Given the description of an element on the screen output the (x, y) to click on. 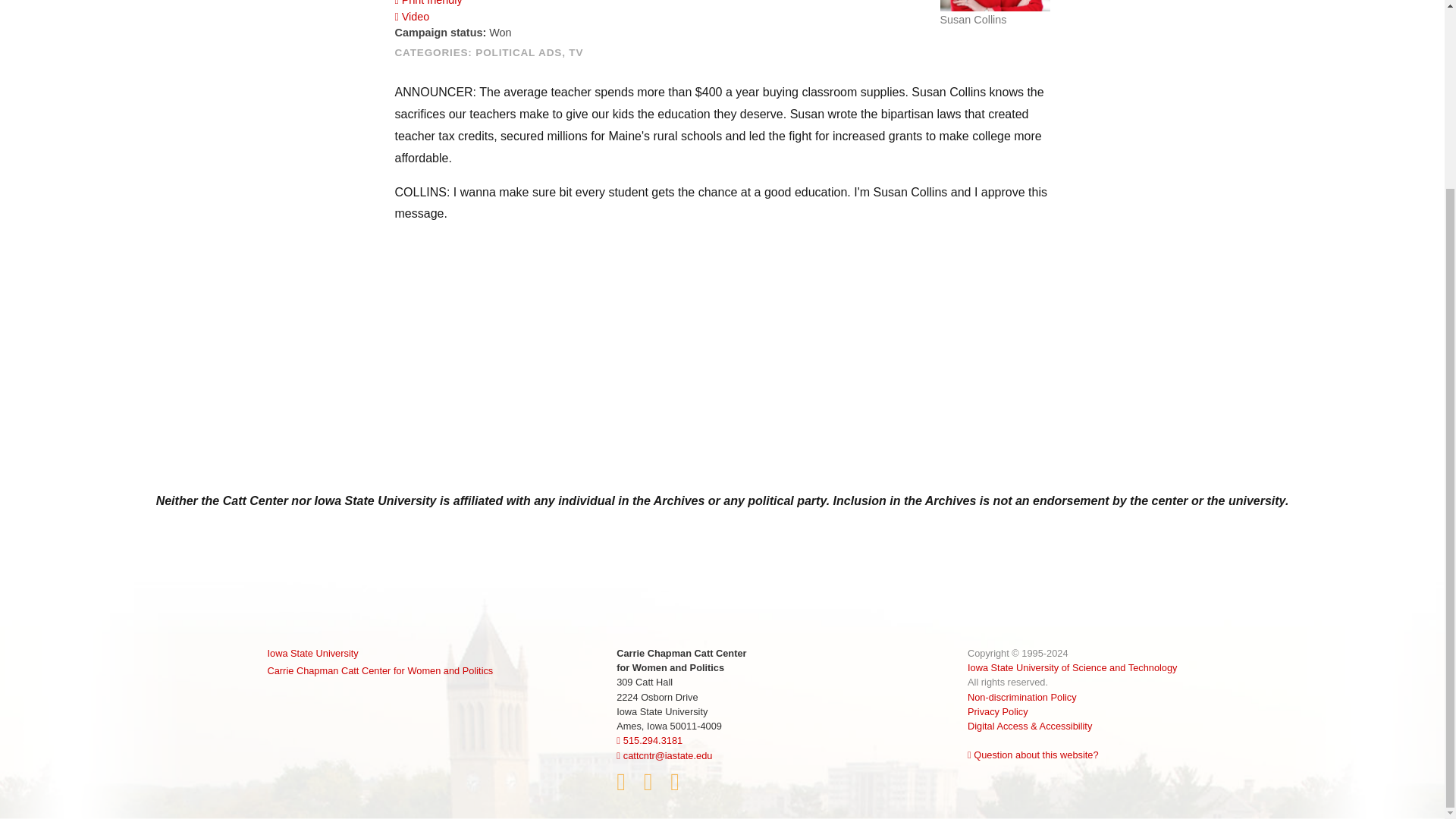
Non-discrimination Policy (1022, 696)
Print friendly (427, 2)
Iowa State University of Science and Technology (1072, 667)
POLITICAL ADS (519, 52)
Question about this website? (1033, 754)
TV (576, 52)
Carrie Chapman Catt Center for Women and Politics (379, 670)
Privacy Policy (997, 711)
Susan Collins (994, 5)
Video (411, 16)
Iowa State University (379, 653)
515.294.3181 (648, 740)
Susan Collins (994, 13)
